Given the description of an element on the screen output the (x, y) to click on. 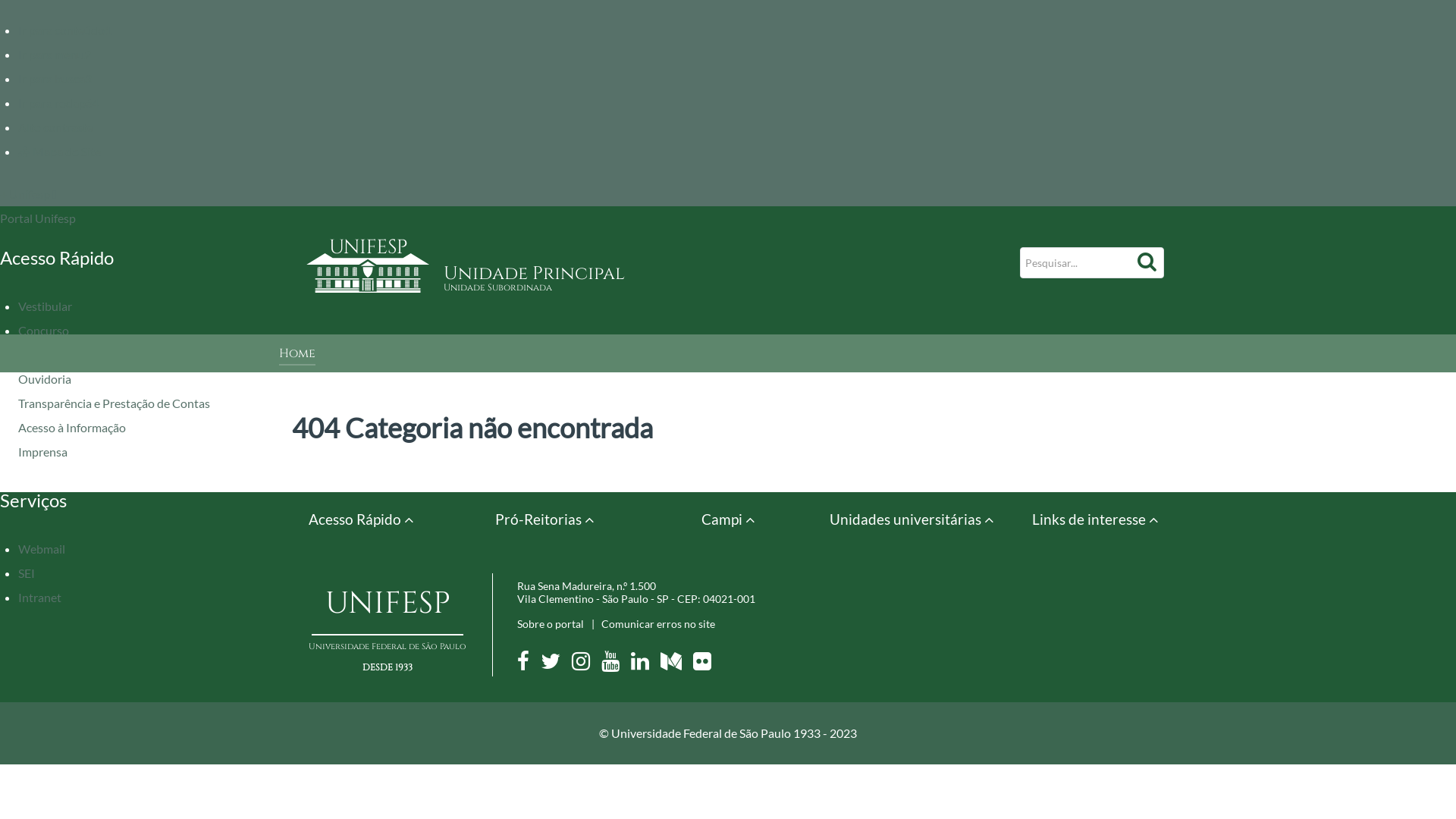
Portal Unifesp Element type: text (37, 217)
Linkedin Unifesp Element type: hover (644, 664)
SEI Element type: text (26, 572)
Comunicar erros no site Element type: text (658, 623)
+ Unifesp Element type: text (28, 193)
Imprensa Element type: text (42, 451)
Unidade Principal
Unidade Subordinada Element type: text (712, 277)
Vestibular Element type: text (45, 305)
Medium Unifesp Element type: hover (675, 664)
Concurso Element type: text (43, 330)
Facebook Unifesp Element type: hover (527, 664)
Fale Conosco Element type: text (53, 354)
on Element type: text (4, 4)
Intranet Element type: text (39, 596)
Twitter Oficial Element type: hover (554, 664)
Instagram Unifesp Element type: hover (585, 664)
Alto contraste Element type: text (55, 126)
Ouvidoria Element type: text (44, 378)
Ir para menu2 Element type: text (54, 54)
Home Element type: text (297, 354)
Sobre o portal Element type: text (550, 623)
Webmail Element type: text (41, 548)
Flickr Unifesp Element type: hover (706, 664)
Youtube Unifesp Element type: hover (614, 664)
Mapa do Site Element type: text (59, 151)
Ir para busca3 Element type: text (54, 78)
